Given the description of an element on the screen output the (x, y) to click on. 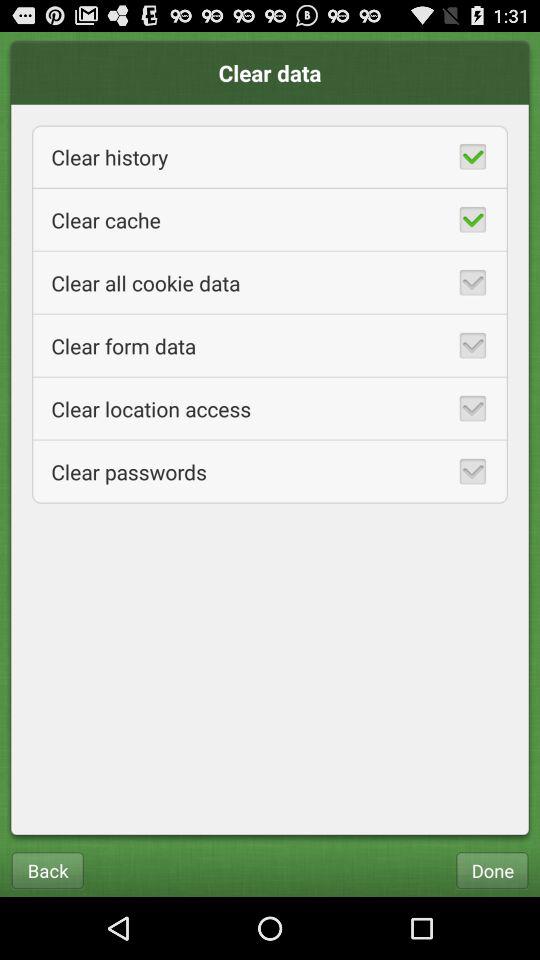
tap the app above clear all cookie (269, 219)
